Given the description of an element on the screen output the (x, y) to click on. 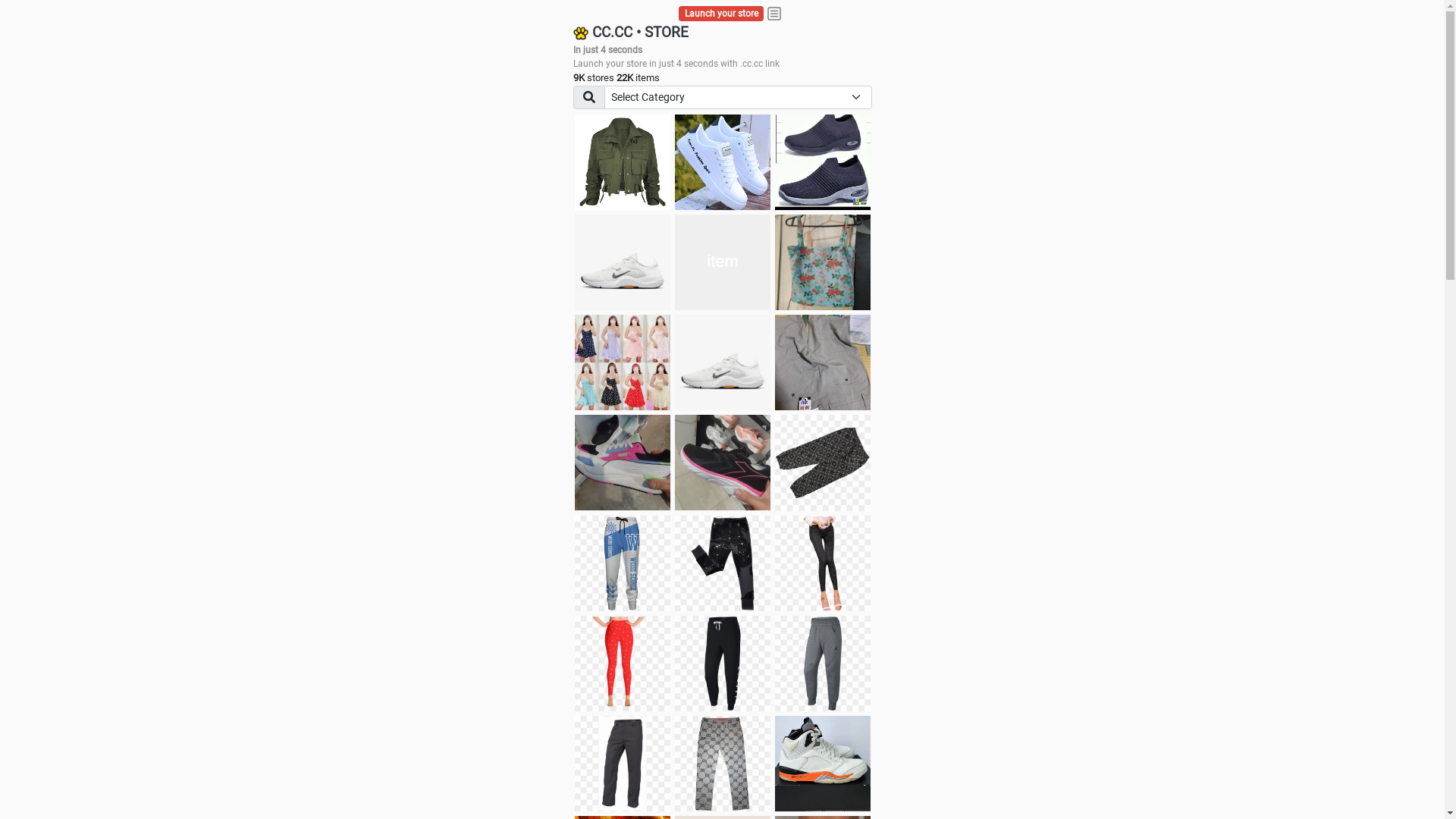
Pant Element type: hover (722, 663)
Pant Element type: hover (622, 663)
Pant Element type: hover (822, 563)
Ukay cloth Element type: hover (822, 262)
Zapatillas pumas Element type: hover (622, 462)
white shoes Element type: hover (722, 162)
Shoes for boys Element type: hover (622, 262)
Things we need Element type: hover (722, 262)
Dress/square nect top Element type: hover (622, 362)
jacket Element type: hover (622, 162)
Shoes Element type: hover (722, 362)
shoes for boys Element type: hover (822, 162)
Pant Element type: hover (622, 763)
Pant Element type: hover (722, 563)
Shoe Element type: hover (822, 763)
Pant Element type: hover (722, 763)
Pant Element type: hover (622, 563)
Pant Element type: hover (822, 663)
Launch your store Element type: text (721, 13)
Short pant Element type: hover (822, 462)
Zapatillas Element type: hover (722, 462)
